Given the description of an element on the screen output the (x, y) to click on. 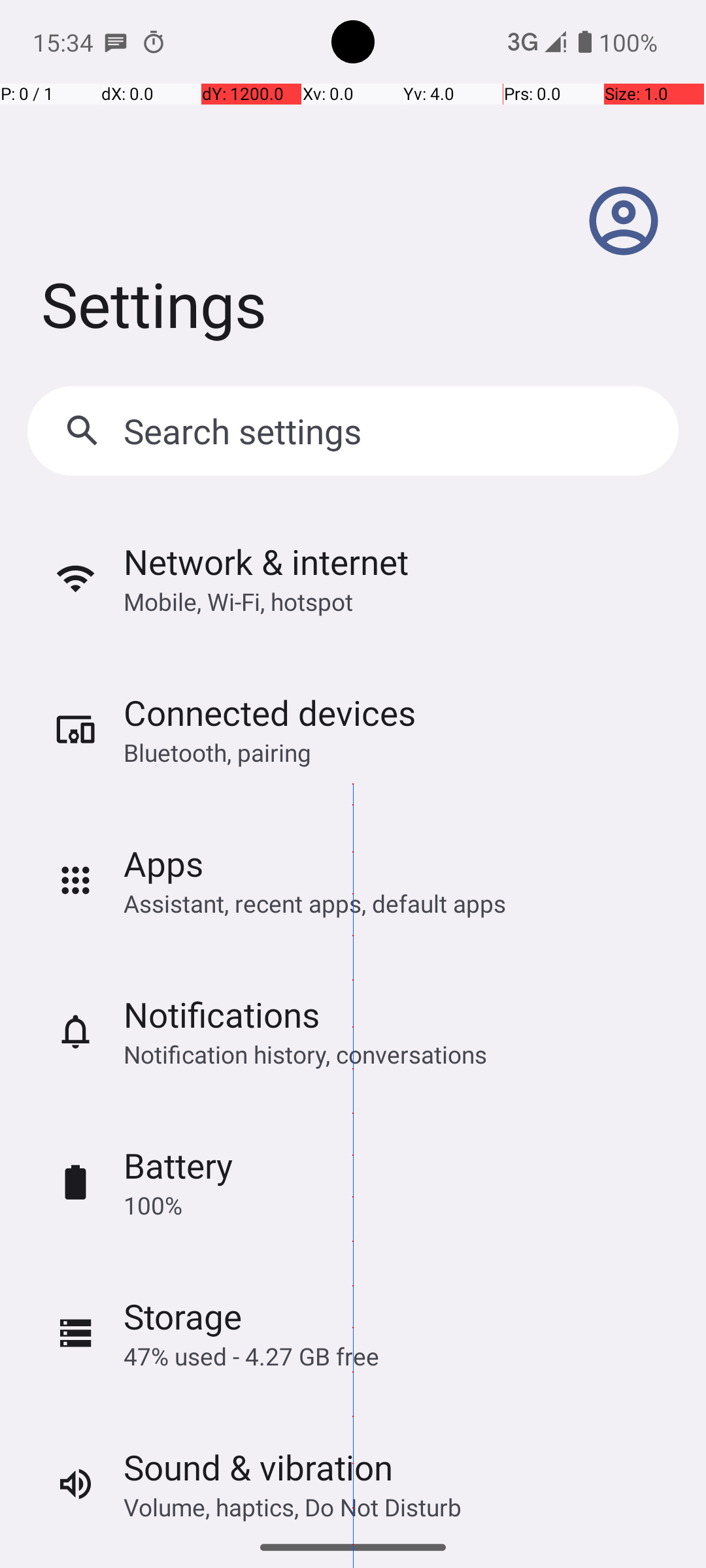
47% used - 4.27 GB free Element type: android.widget.TextView (251, 1355)
